Given the description of an element on the screen output the (x, y) to click on. 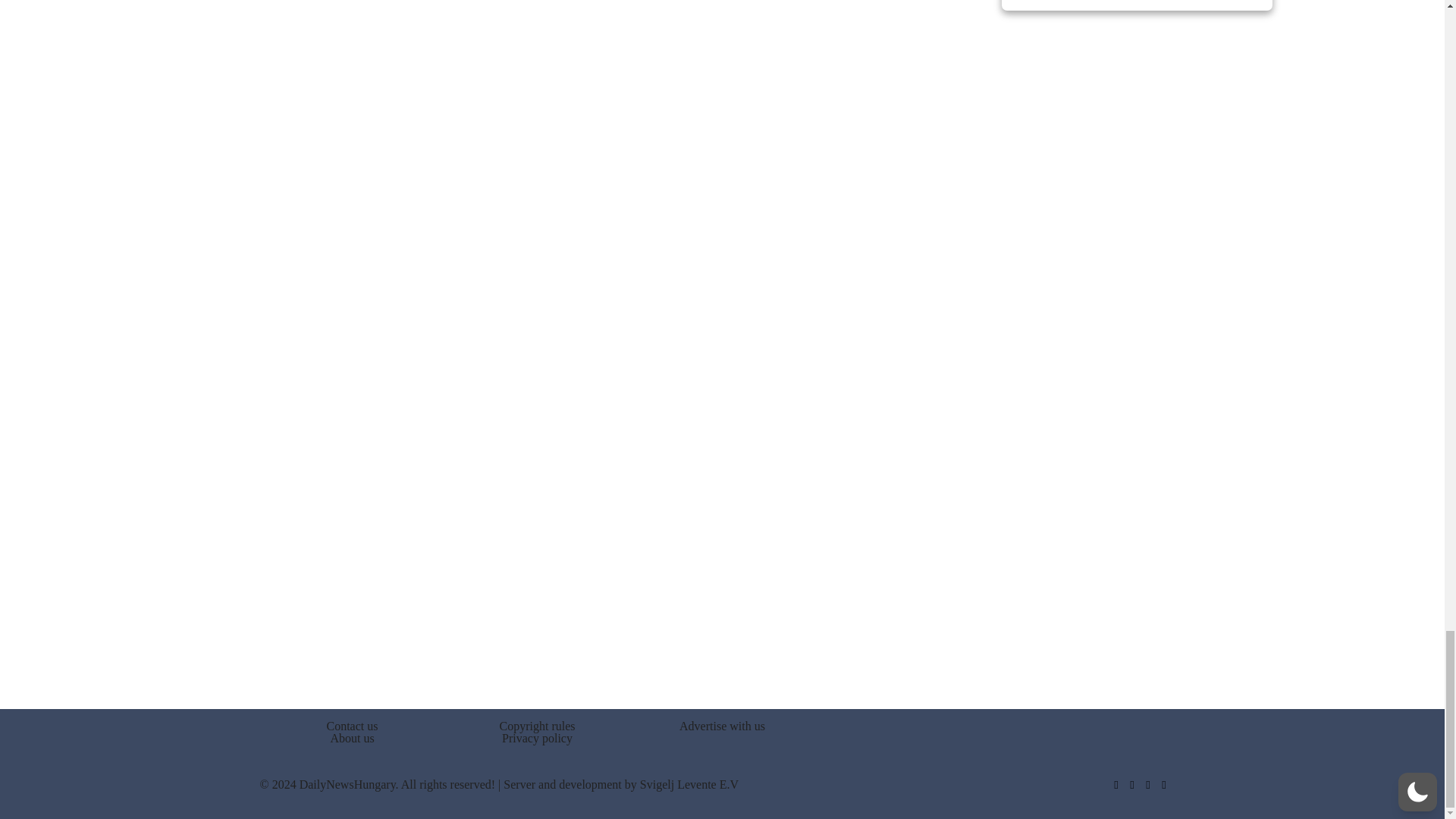
Facebook (1115, 784)
Instagram (1147, 784)
RSS (1164, 784)
